Given the description of an element on the screen output the (x, y) to click on. 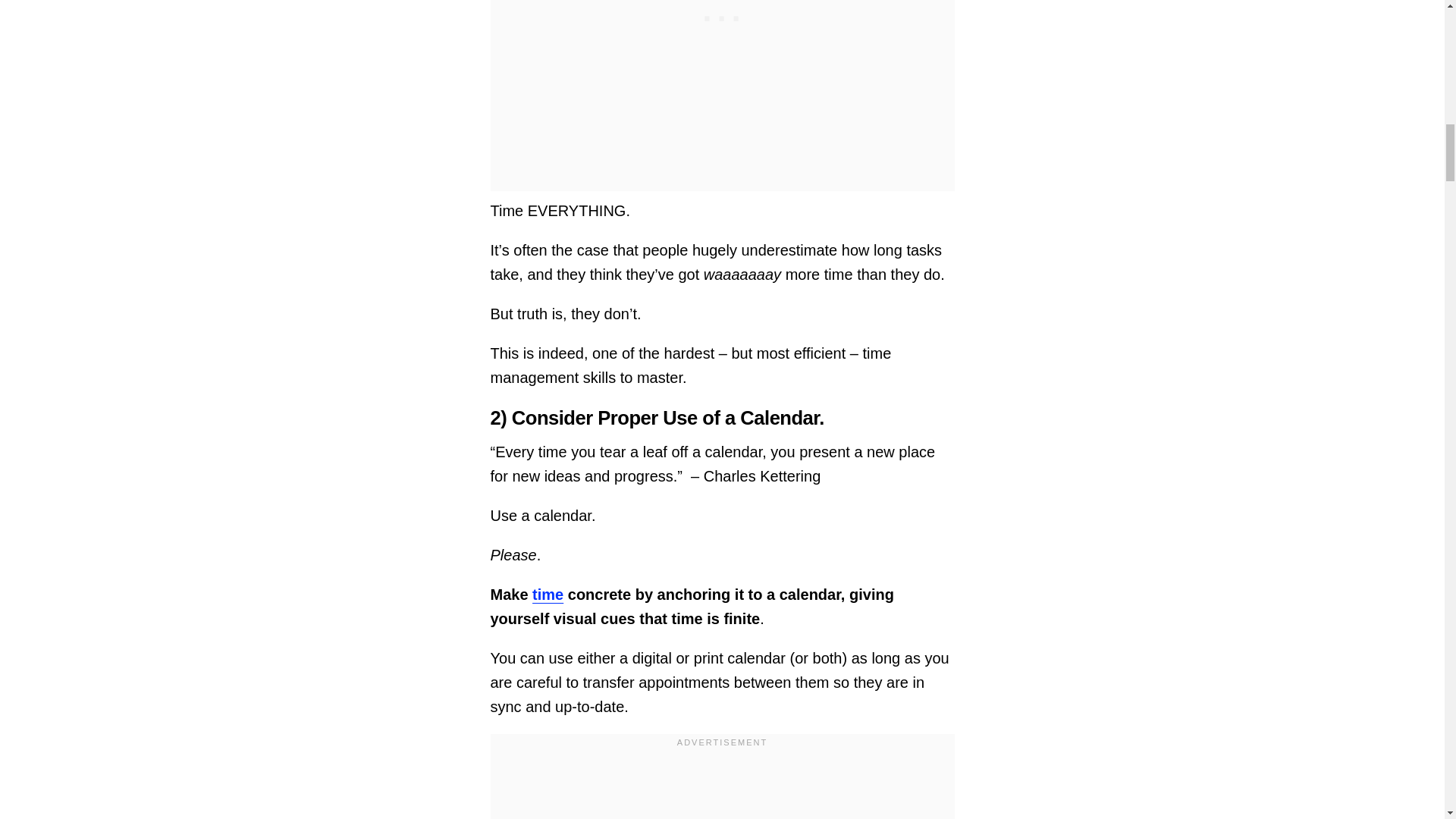
time (547, 594)
